Given the description of an element on the screen output the (x, y) to click on. 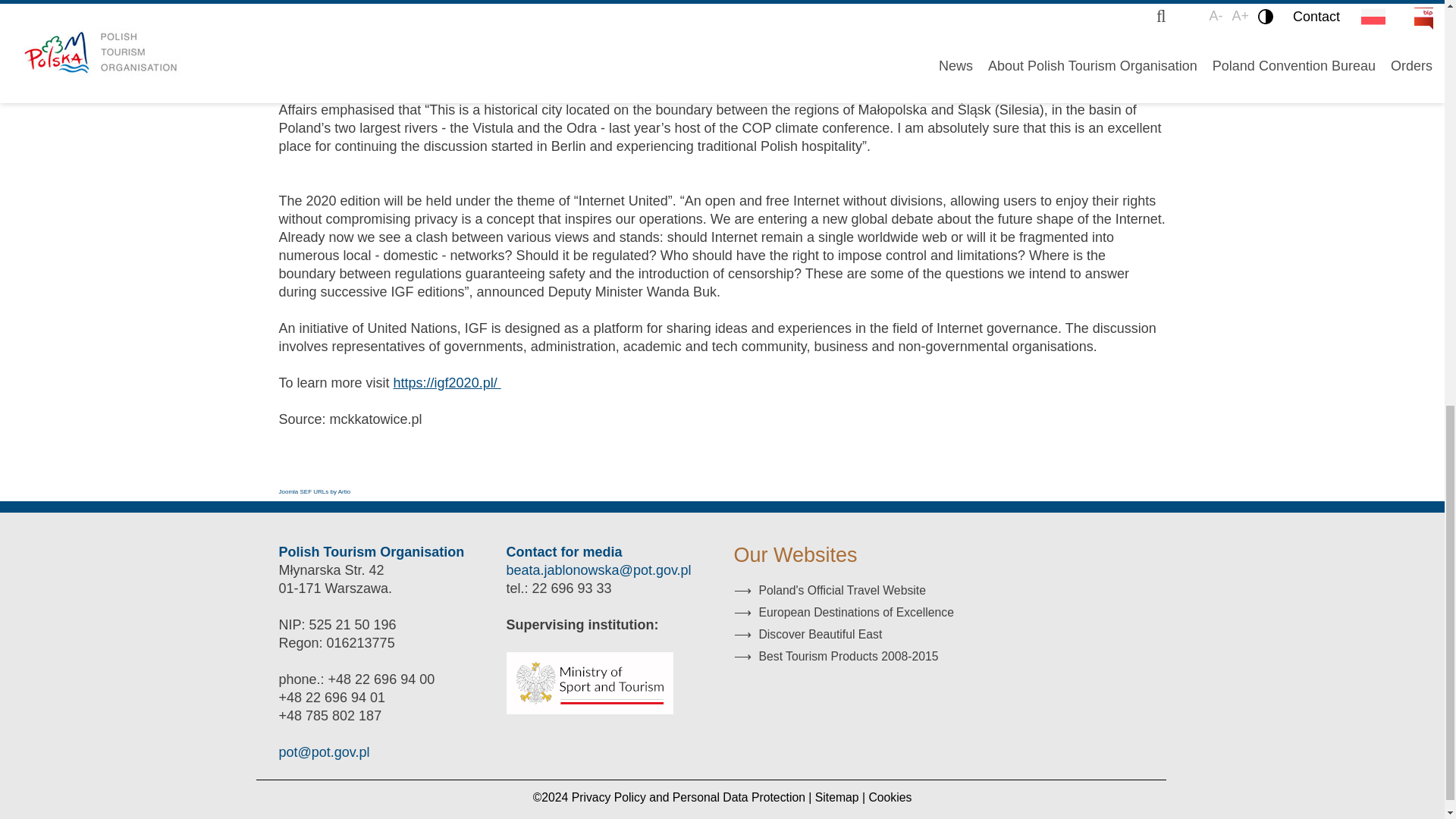
Polska Podaj Dalej - link open in new tab (836, 656)
